Given the description of an element on the screen output the (x, y) to click on. 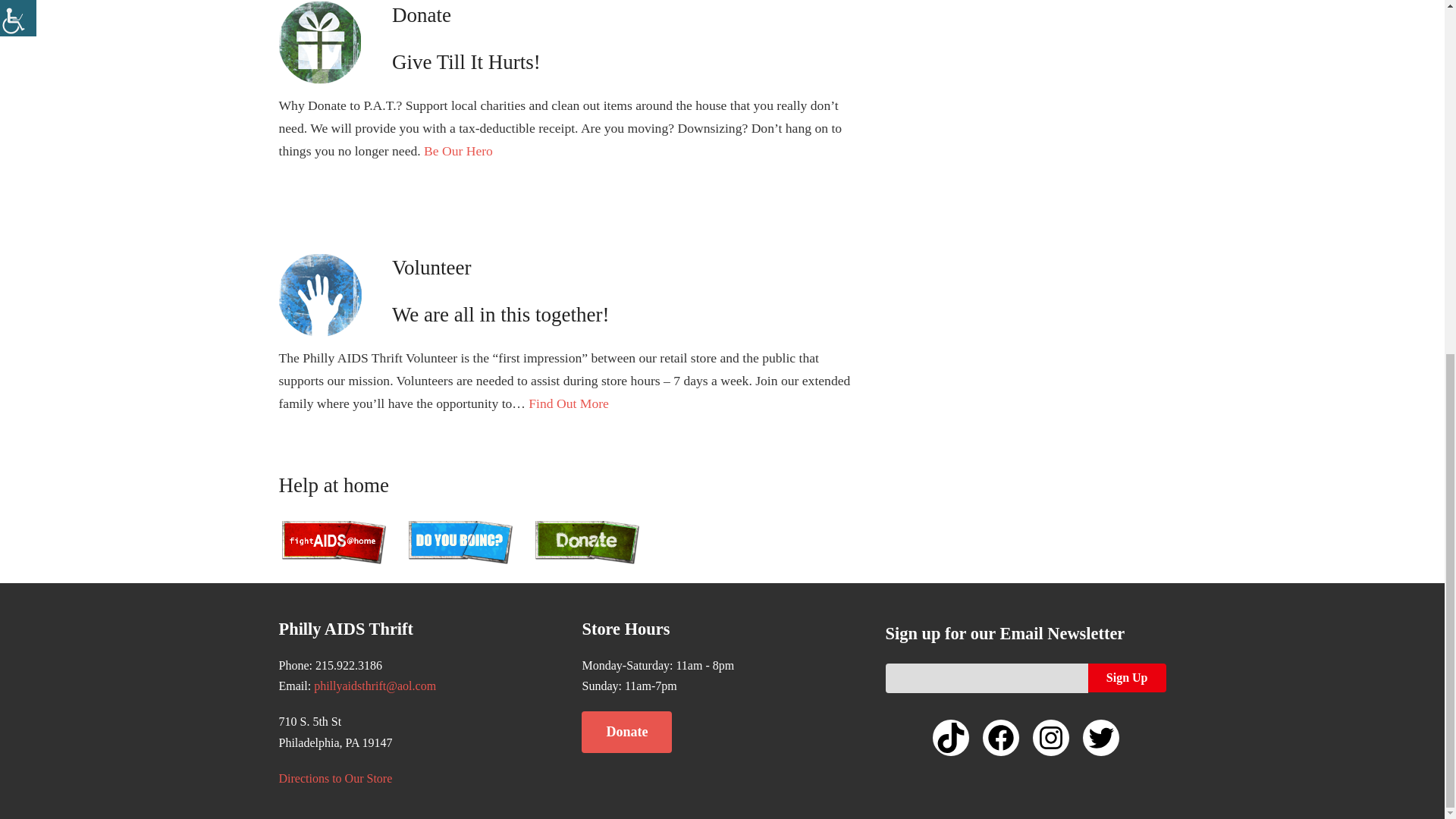
Be Our Hero (458, 150)
Sign Up (1126, 677)
Find Out More (568, 403)
Donate (625, 731)
Directions to Our Store (336, 778)
